Given the description of an element on the screen output the (x, y) to click on. 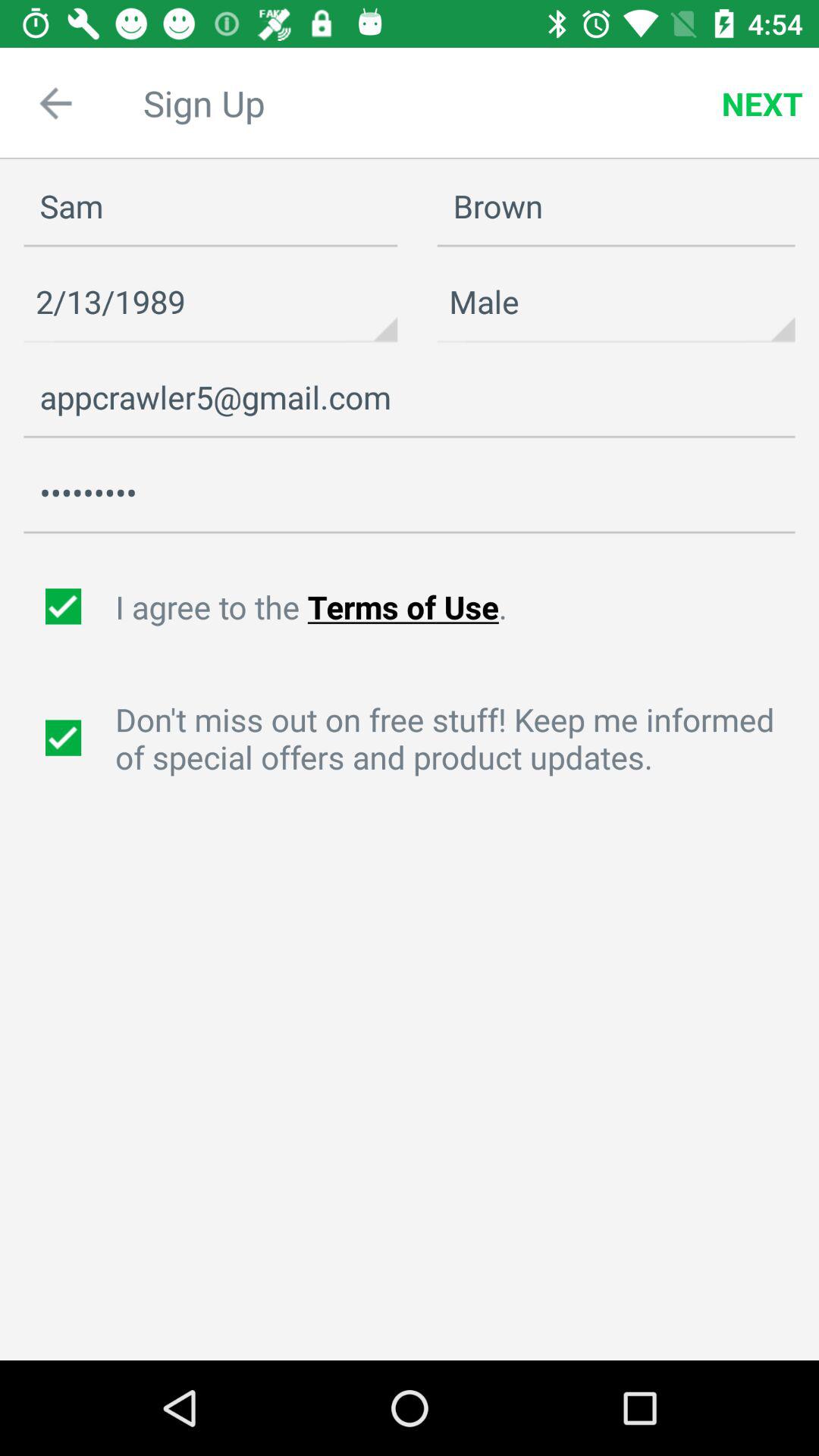
press the item to the left of the brown item (210, 302)
